Given the description of an element on the screen output the (x, y) to click on. 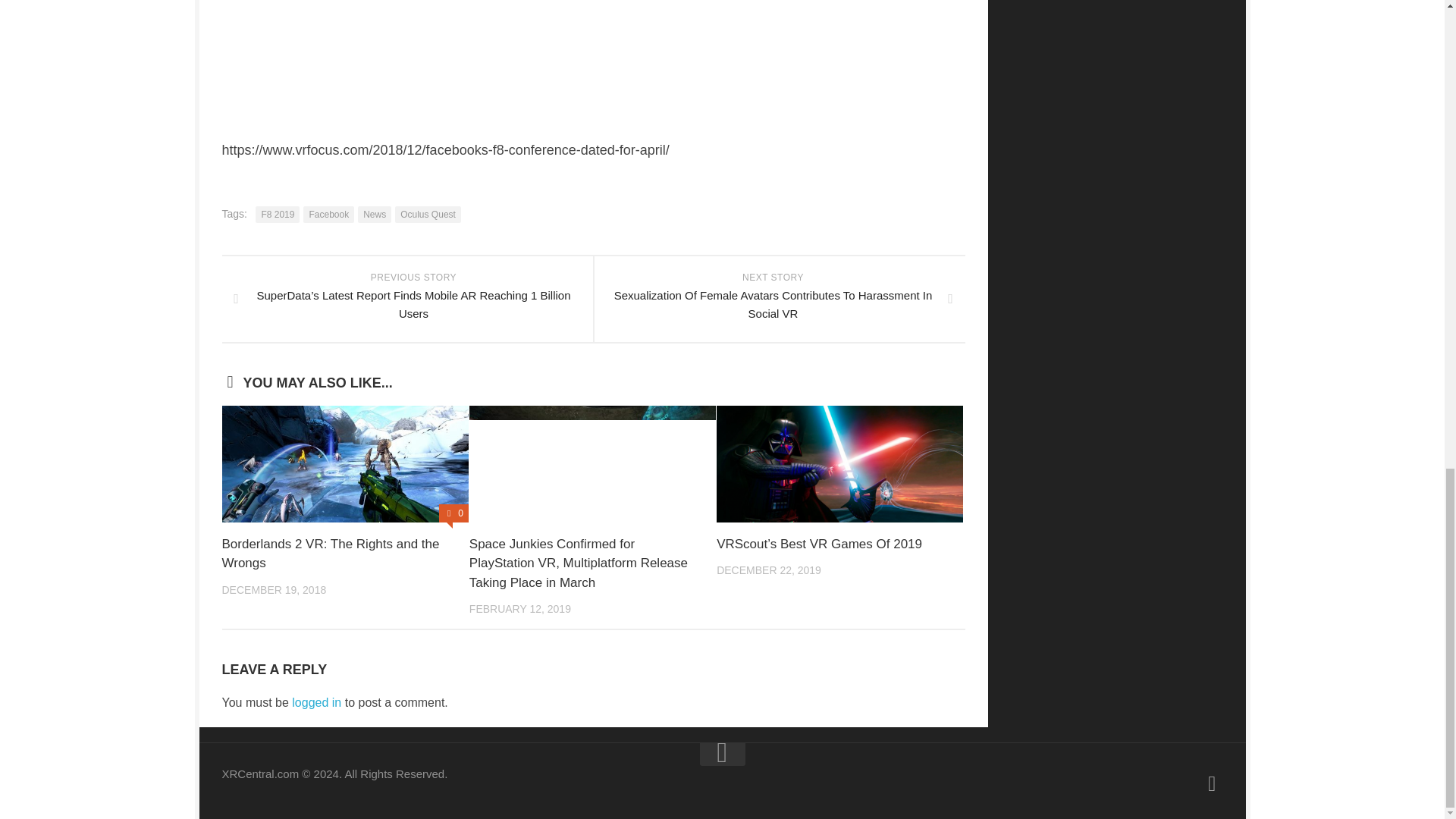
Facebook (327, 214)
Advertisement (554, 69)
News (374, 214)
Advertisement (1115, 6)
0 (453, 513)
F8 2019 (277, 214)
Borderlands 2 VR: The Rights and the Wrongs (330, 553)
Oculus Quest (427, 214)
Twitter (1212, 783)
